Given the description of an element on the screen output the (x, y) to click on. 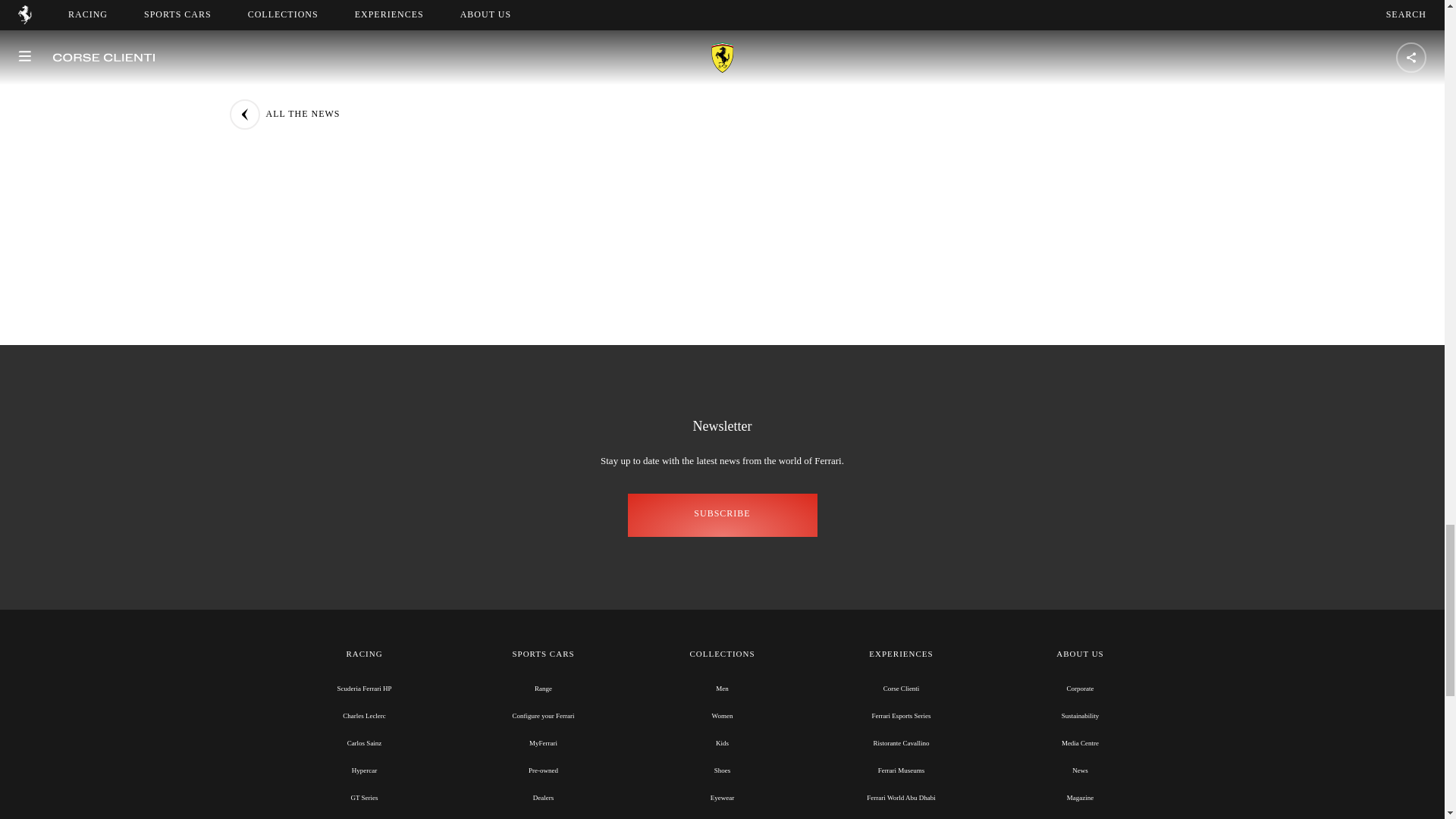
Pre-owned (542, 769)
Configure your Ferrari (543, 715)
SUBSCRIBE (721, 515)
RACING (363, 653)
Scuderia Ferrari HP (363, 688)
Range (542, 688)
Charles Leclerc (363, 715)
MyFerrari (543, 742)
SPORTS CARS (542, 653)
GT Series (363, 797)
Hypercar (364, 769)
Carlos Sainz (364, 742)
